Given the description of an element on the screen output the (x, y) to click on. 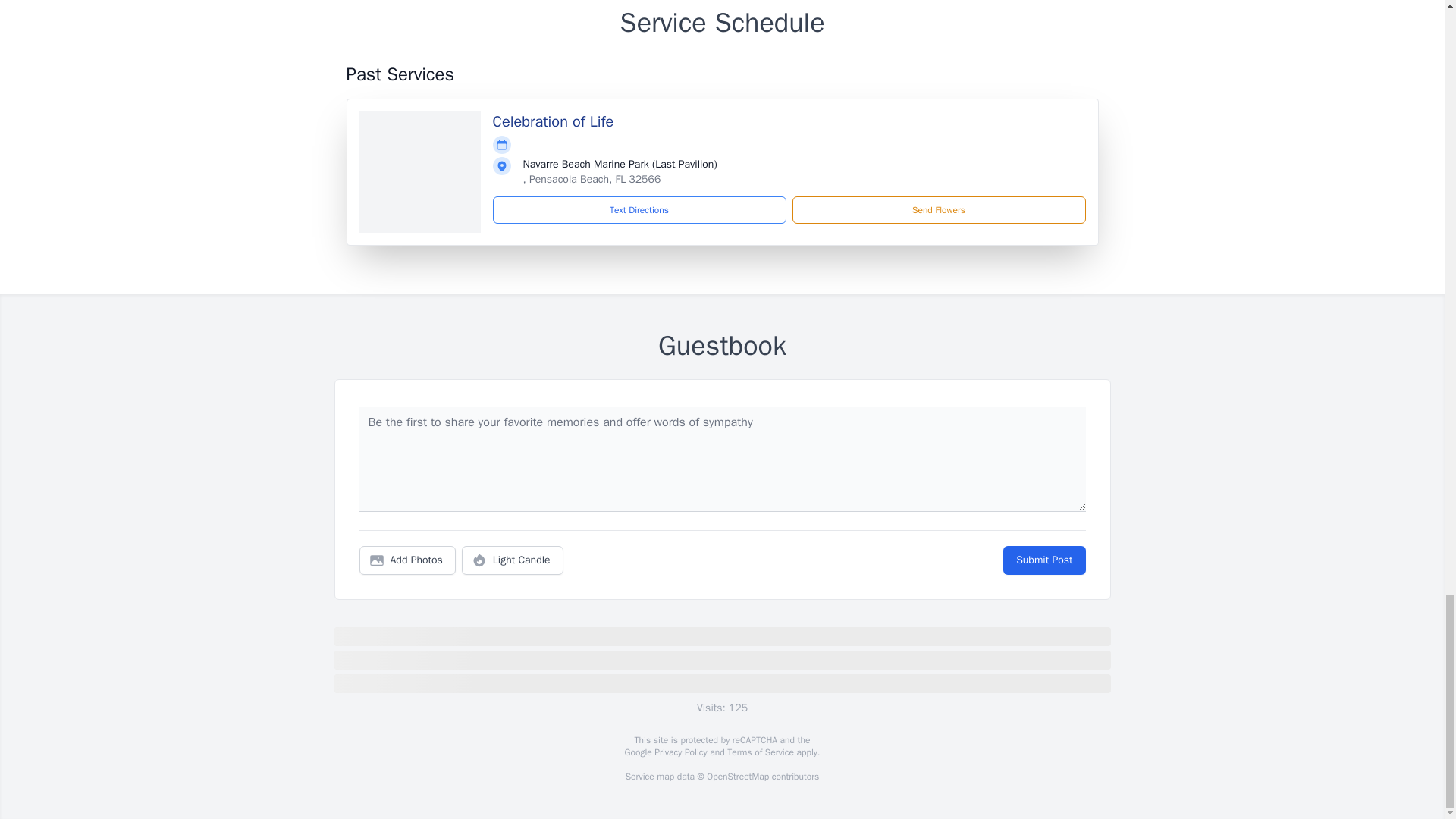
Send Flowers (938, 209)
, Pensacola Beach, FL 32566 (591, 178)
Text Directions (639, 209)
Privacy Policy (679, 752)
Submit Post (1043, 560)
Add Photos (407, 560)
Terms of Service (759, 752)
OpenStreetMap (737, 776)
Light Candle (512, 560)
